Given the description of an element on the screen output the (x, y) to click on. 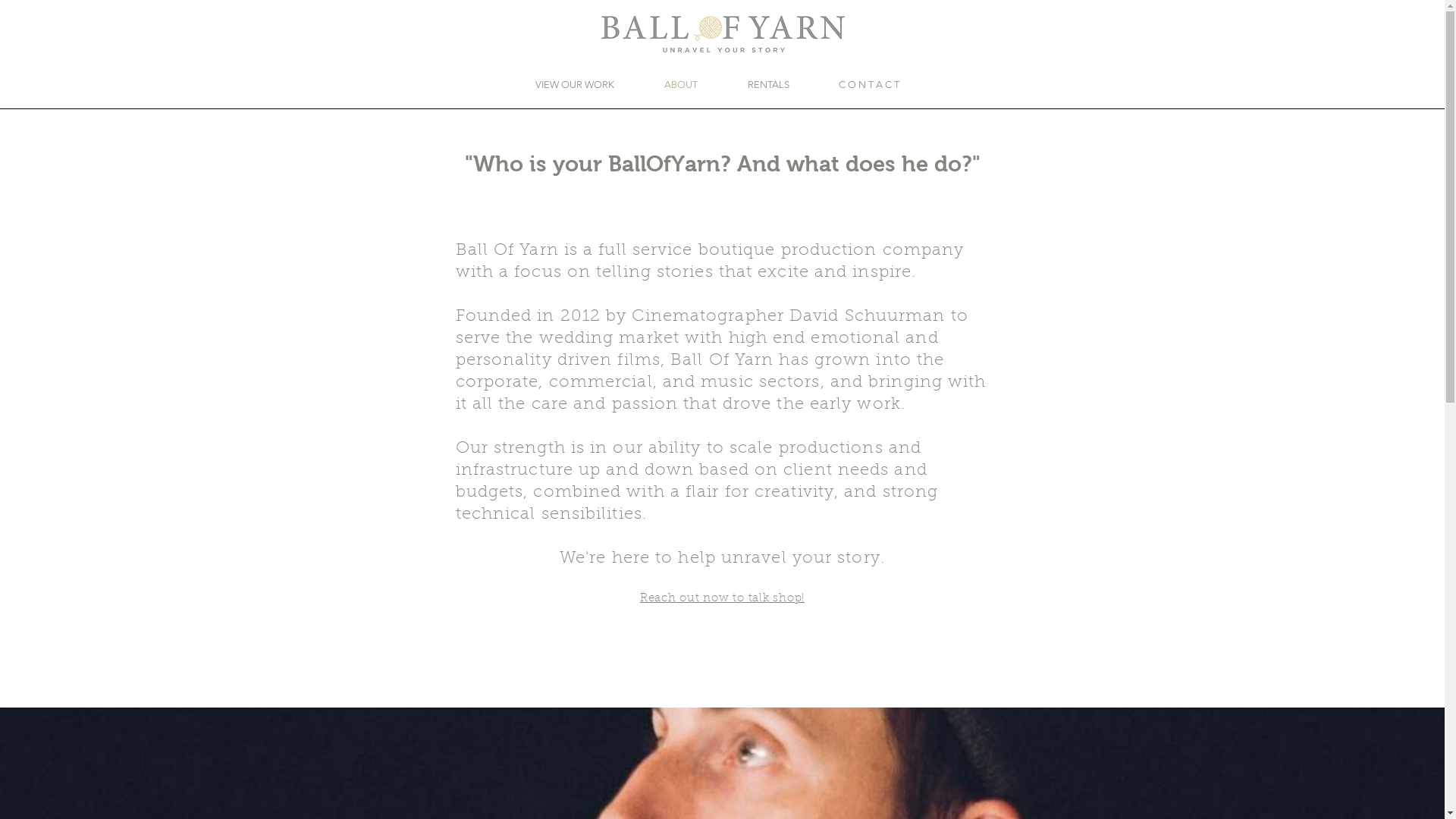
RENTALS Element type: text (754, 84)
ABOUT Element type: text (666, 84)
C O N T A C T Element type: text (855, 84)
Reach out now to talk shop! Element type: text (722, 597)
VIEW OUR WORK Element type: text (559, 84)
